Given the description of an element on the screen output the (x, y) to click on. 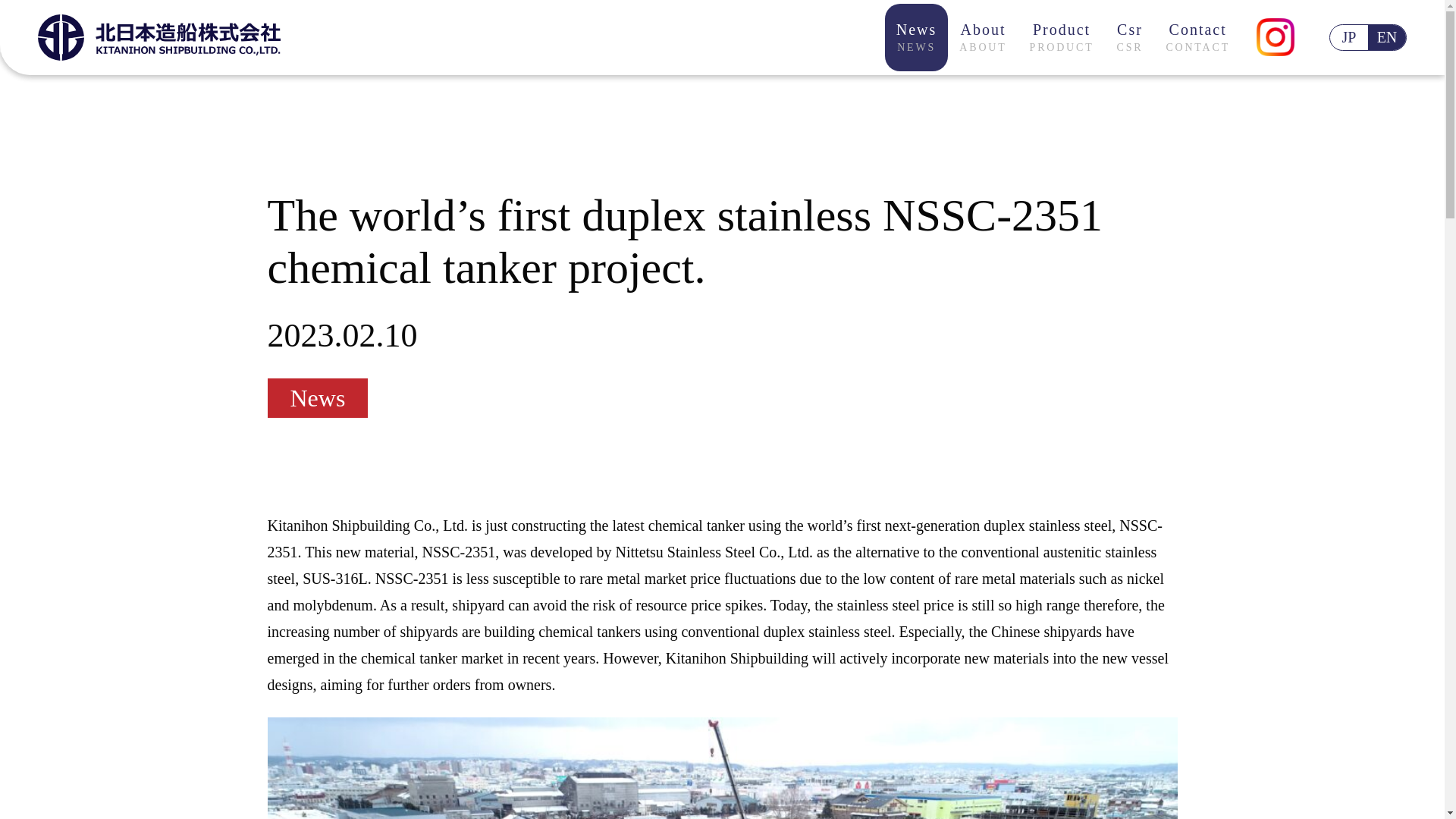
List of Bussiness Establishment (1197, 37)
Activity (702, 25)
Kitanihon Ship building Initiatives (801, 25)
Process (601, 25)
List of officers (778, 25)
JP (1013, 25)
About Us (917, 37)
EN (1061, 37)
Access (1349, 37)
Factory tour (409, 25)
History (1387, 37)
